Given the description of an element on the screen output the (x, y) to click on. 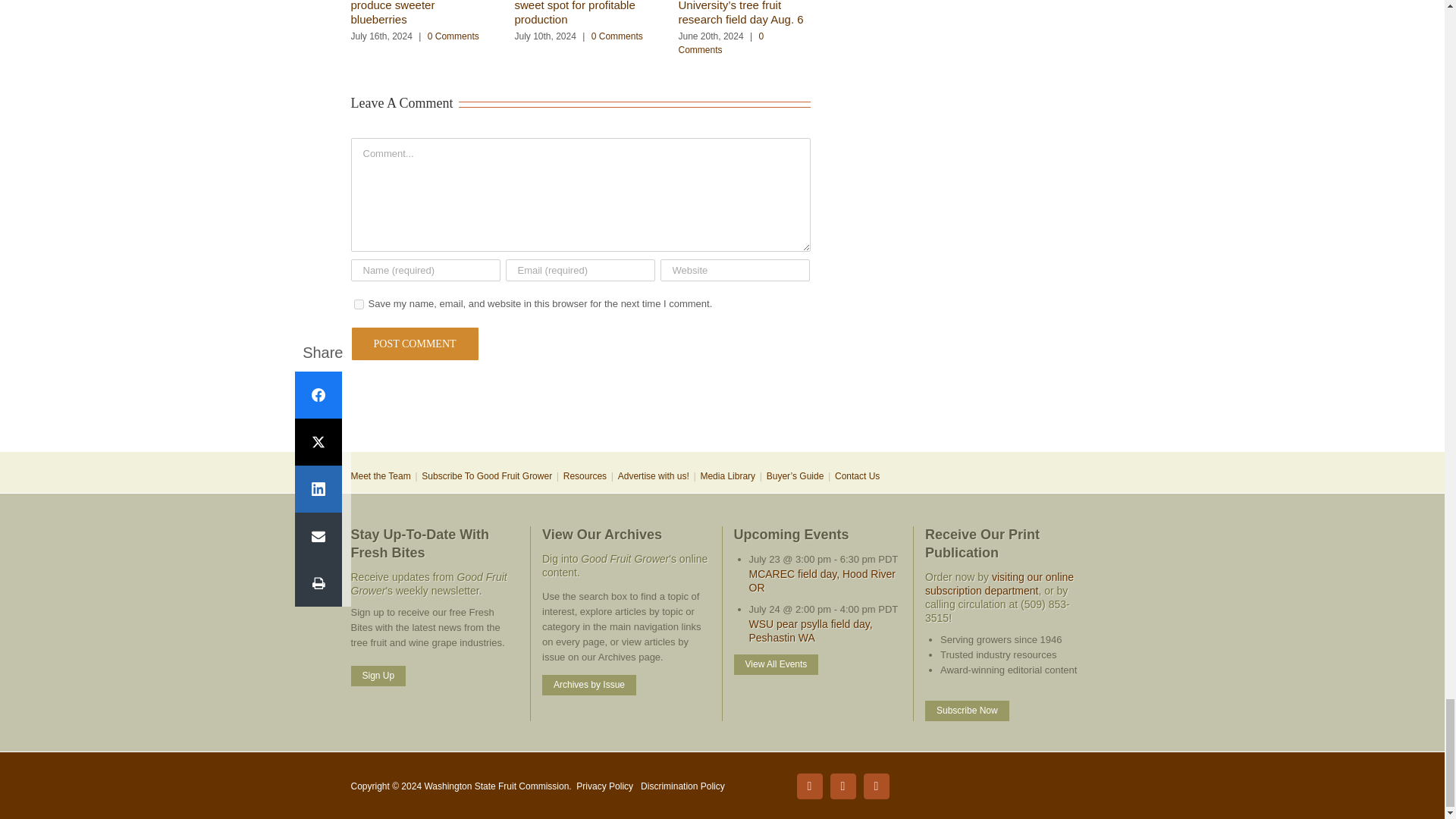
Post Comment (414, 343)
3rd party ad content (721, 401)
yes (357, 304)
Michigan seeks tweaks to produce sweeter blueberries (415, 13)
